Given the description of an element on the screen output the (x, y) to click on. 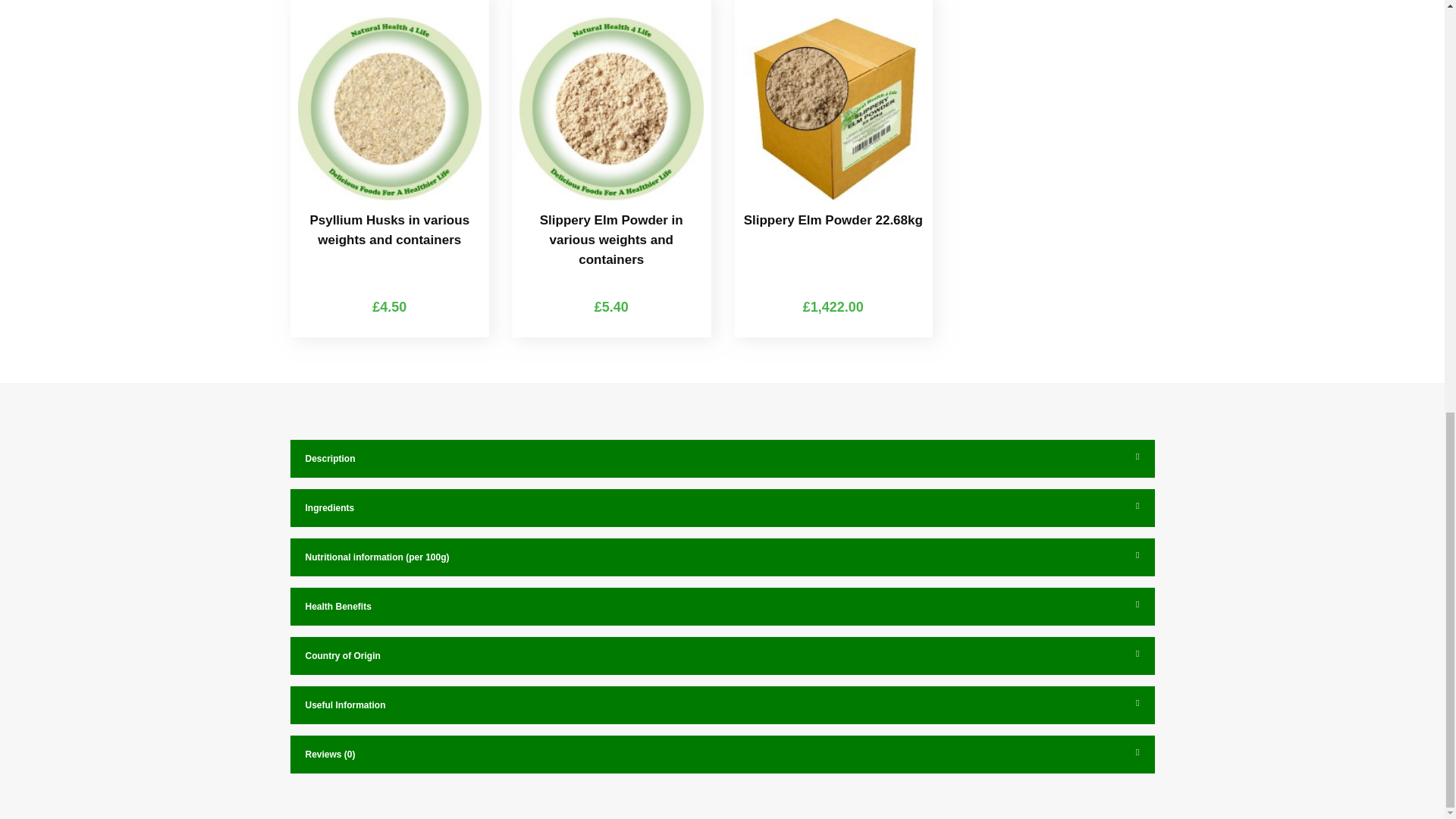
Slippery Elm Powder in various weights and containers (611, 108)
Psyllium Husks in various weights and containers (389, 108)
Slippery Elm Powder 22.68kg (833, 108)
